Given the description of an element on the screen output the (x, y) to click on. 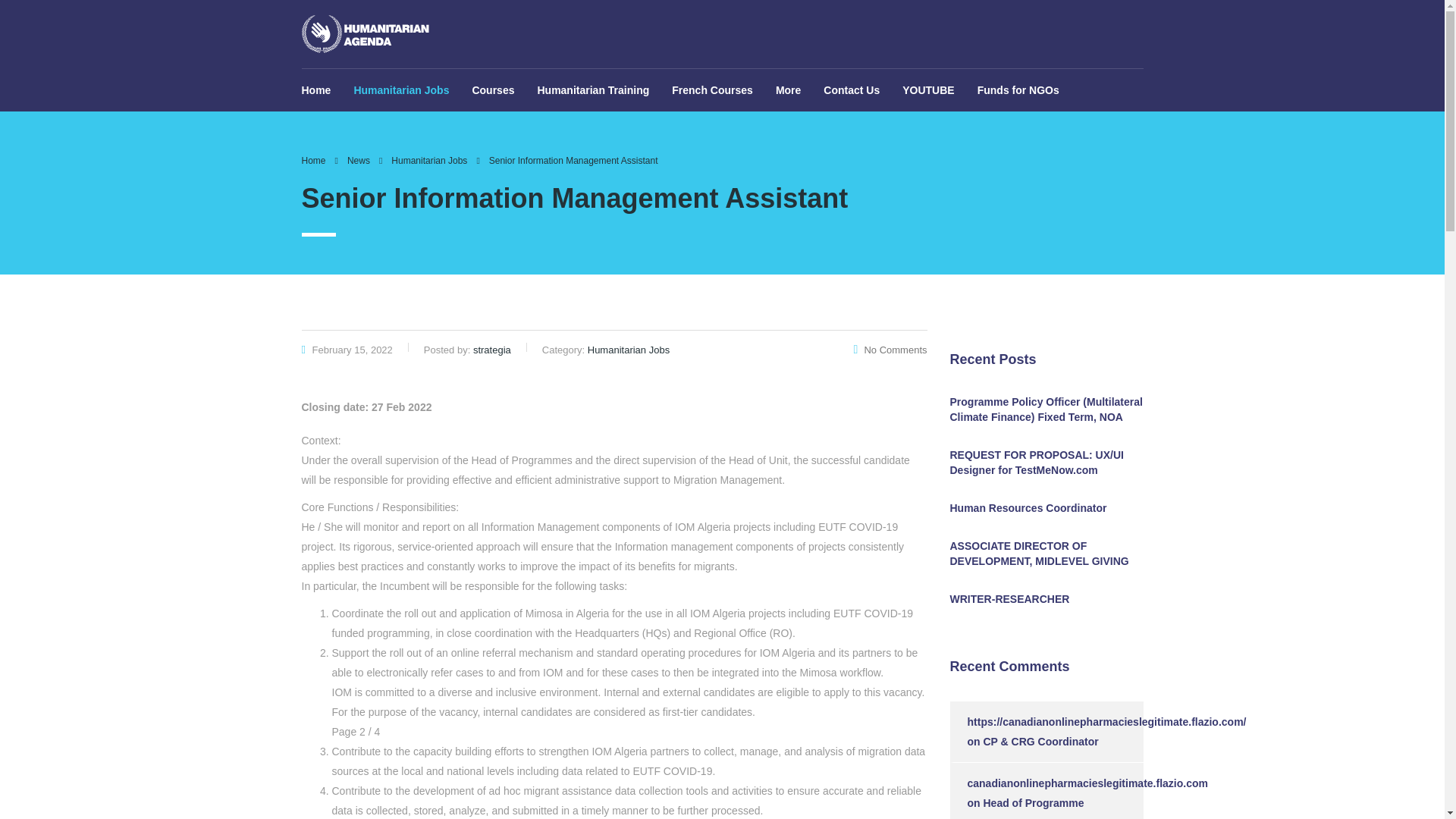
Go to the Humanitarian Jobs category archives. (429, 160)
Home (313, 160)
Human Resources Coordinator (1045, 507)
WRITER-RESEARCHER (1045, 598)
Head of Programme (1032, 802)
Humanitarian Jobs (401, 89)
Humanitarian Jobs (429, 160)
Humanitarian Training (593, 89)
YOUTUBE (928, 89)
Funds for NGOs (1012, 89)
